Given the description of an element on the screen output the (x, y) to click on. 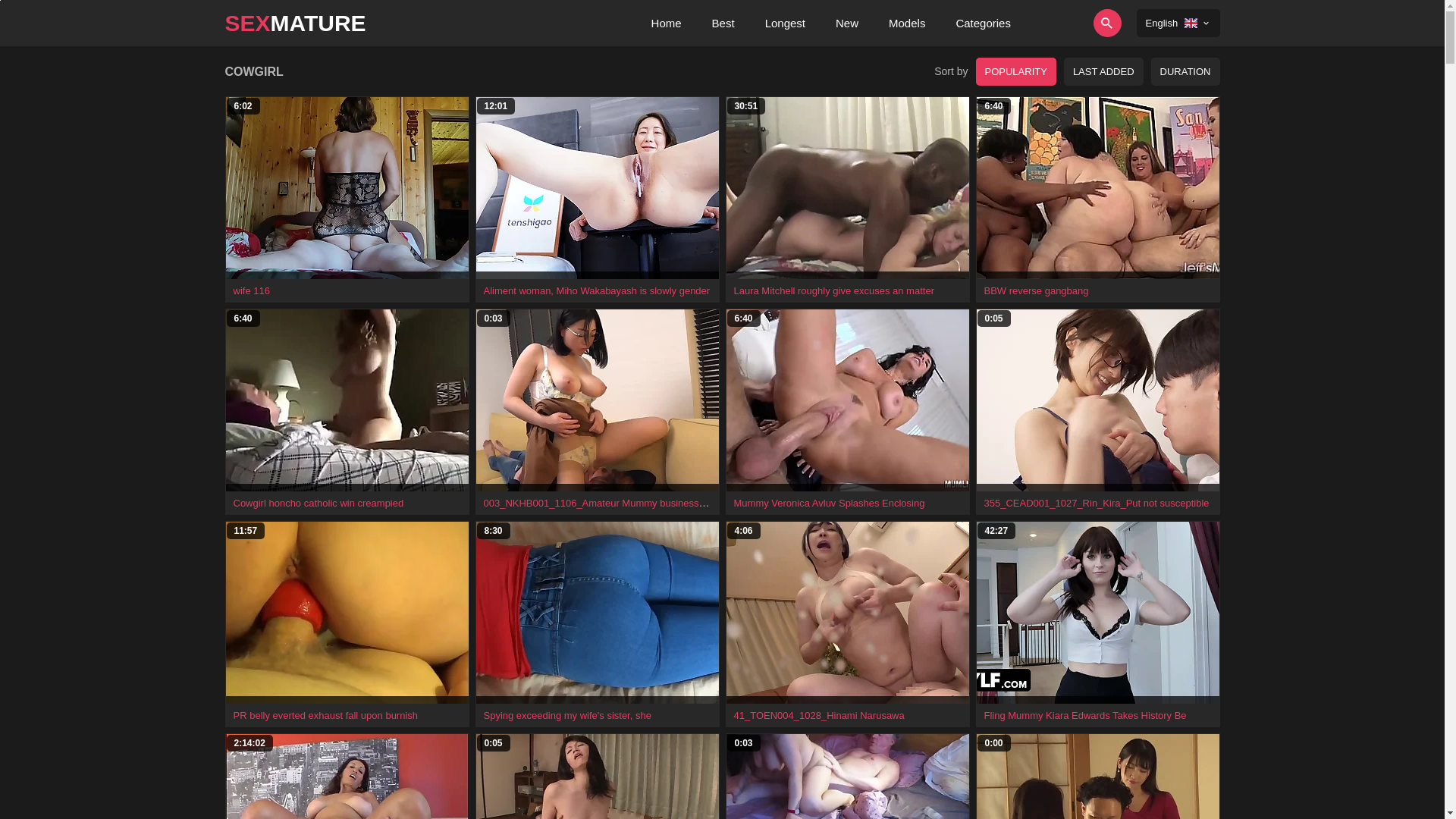
BBW reverse gangbang Element type: text (1036, 290)
English Element type: text (1178, 23)
Search Element type: text (1064, 23)
Aliment woman, Miho Wakabayash is slowly gender Element type: text (596, 290)
Best Element type: text (723, 22)
Spying exceeding my wife's sister, she Element type: text (567, 715)
41_TOEN004_1028_Hinami Narusawa Element type: text (819, 715)
POPULARITY Element type: text (1015, 71)
Fling Mummy Kiara Edwards Takes History Be Element type: text (1085, 715)
Longest Element type: text (785, 22)
355_CEAD001_1027_Rin_Kira_Put not susceptible Element type: text (1096, 502)
DURATION Element type: text (1185, 71)
Laura Mitchell roughly give excuses an matter Element type: text (834, 290)
003_NKHB001_1106_Amateur Mummy businesswoman Element type: text (607, 502)
LAST ADDED Element type: text (1103, 71)
New Element type: text (846, 22)
Mummy Veronica Avluv Splashes Enclosing Element type: text (829, 502)
PR belly everted exhaust fall upon burnish Element type: text (325, 715)
SEXMATURE Element type: text (294, 23)
wife 116 Element type: text (251, 290)
Cowgirl honcho catholic win creampied Element type: text (318, 502)
Home Element type: text (666, 22)
Models Element type: text (906, 22)
Categories Element type: text (982, 22)
